Given the description of an element on the screen output the (x, y) to click on. 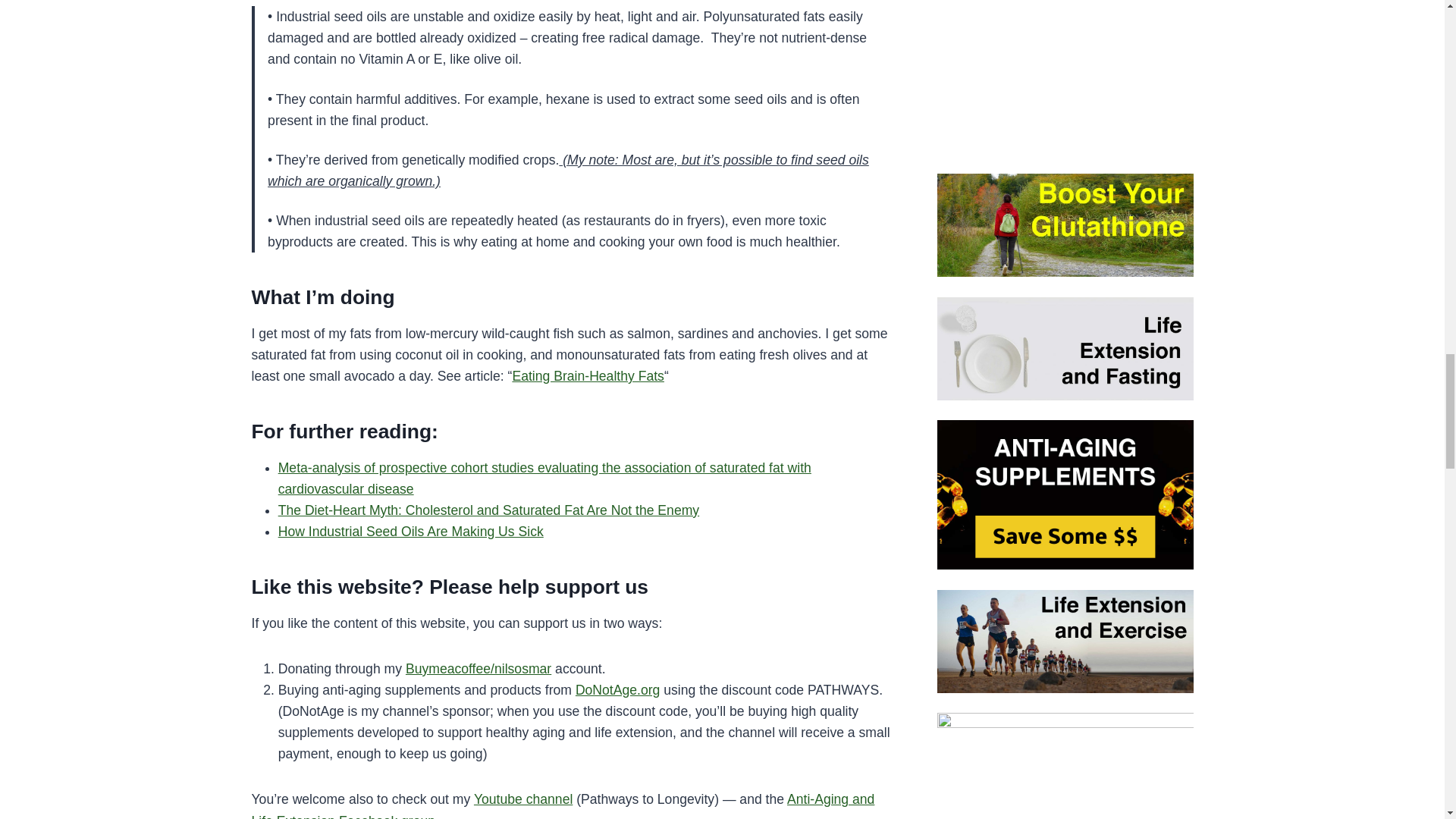
Eating Brain-Healthy Fats (587, 376)
